Given the description of an element on the screen output the (x, y) to click on. 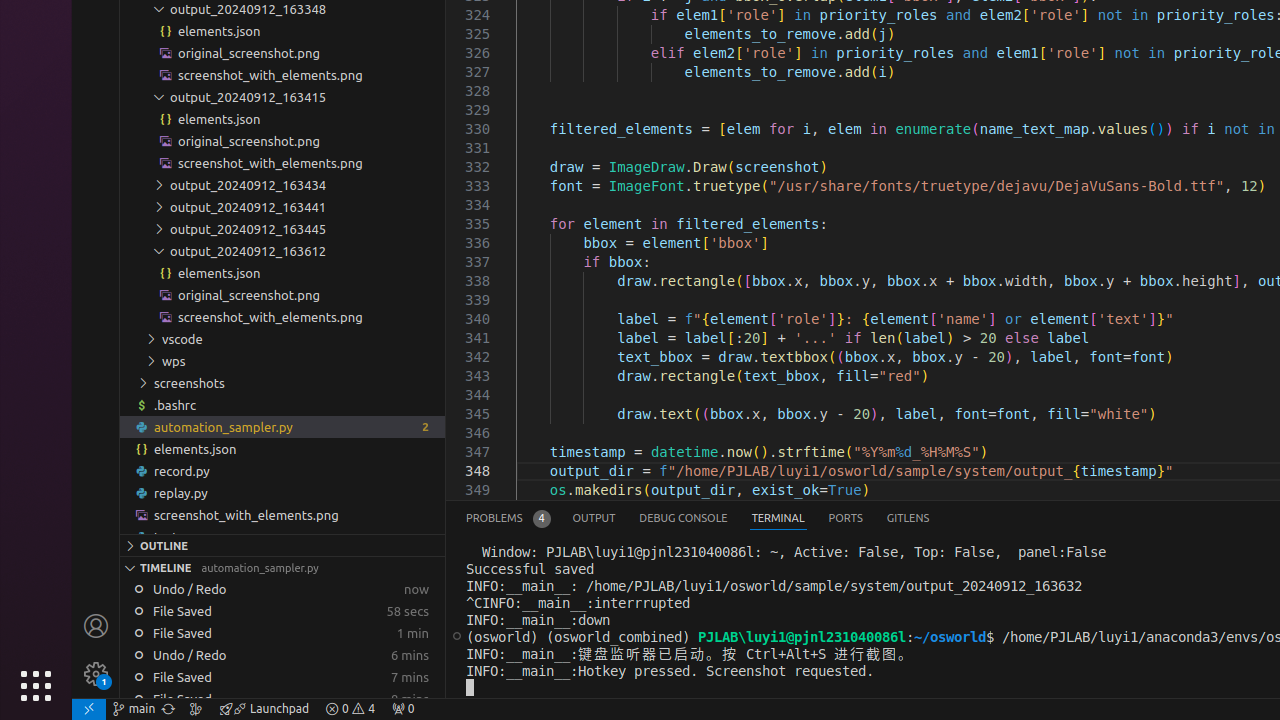
elements.json Element type: tree-item (282, 448)
screenshot_with_elements.png Element type: tree-item (282, 514)
Output (Ctrl+K Ctrl+H) Element type: page-tab (594, 518)
automation_sampler.py Element type: tree-item (282, 426)
output_20240912_163445 Element type: tree-item (282, 228)
